Given the description of an element on the screen output the (x, y) to click on. 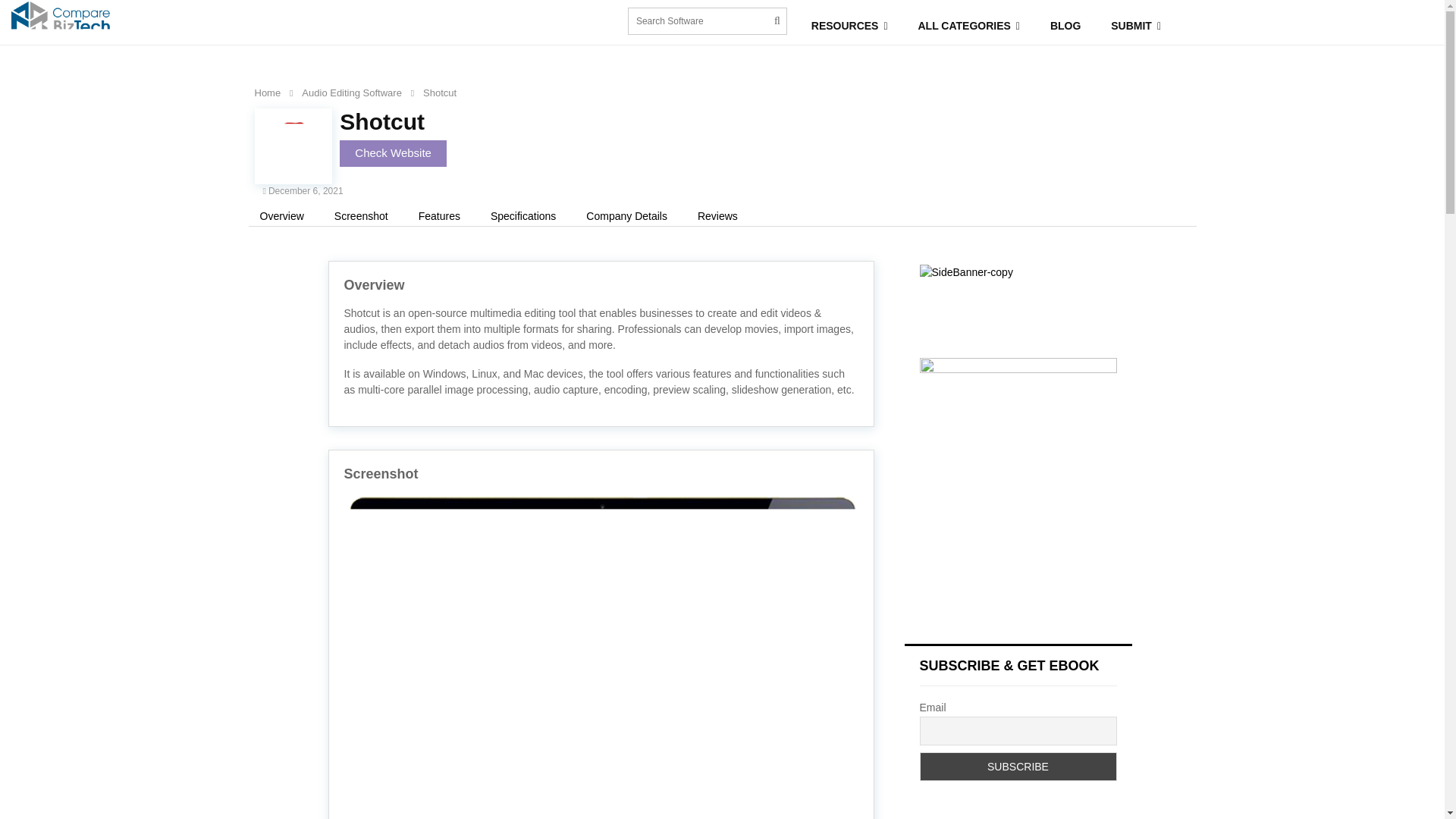
Reviews (717, 216)
Home (267, 92)
RESOURCES (849, 26)
Features (439, 216)
Company Details (626, 216)
SUBMIT (1135, 26)
Subscribe (1017, 766)
BLOG (1065, 26)
ALL CATEGORIES (968, 26)
Audio Editing Software (351, 92)
